Given the description of an element on the screen output the (x, y) to click on. 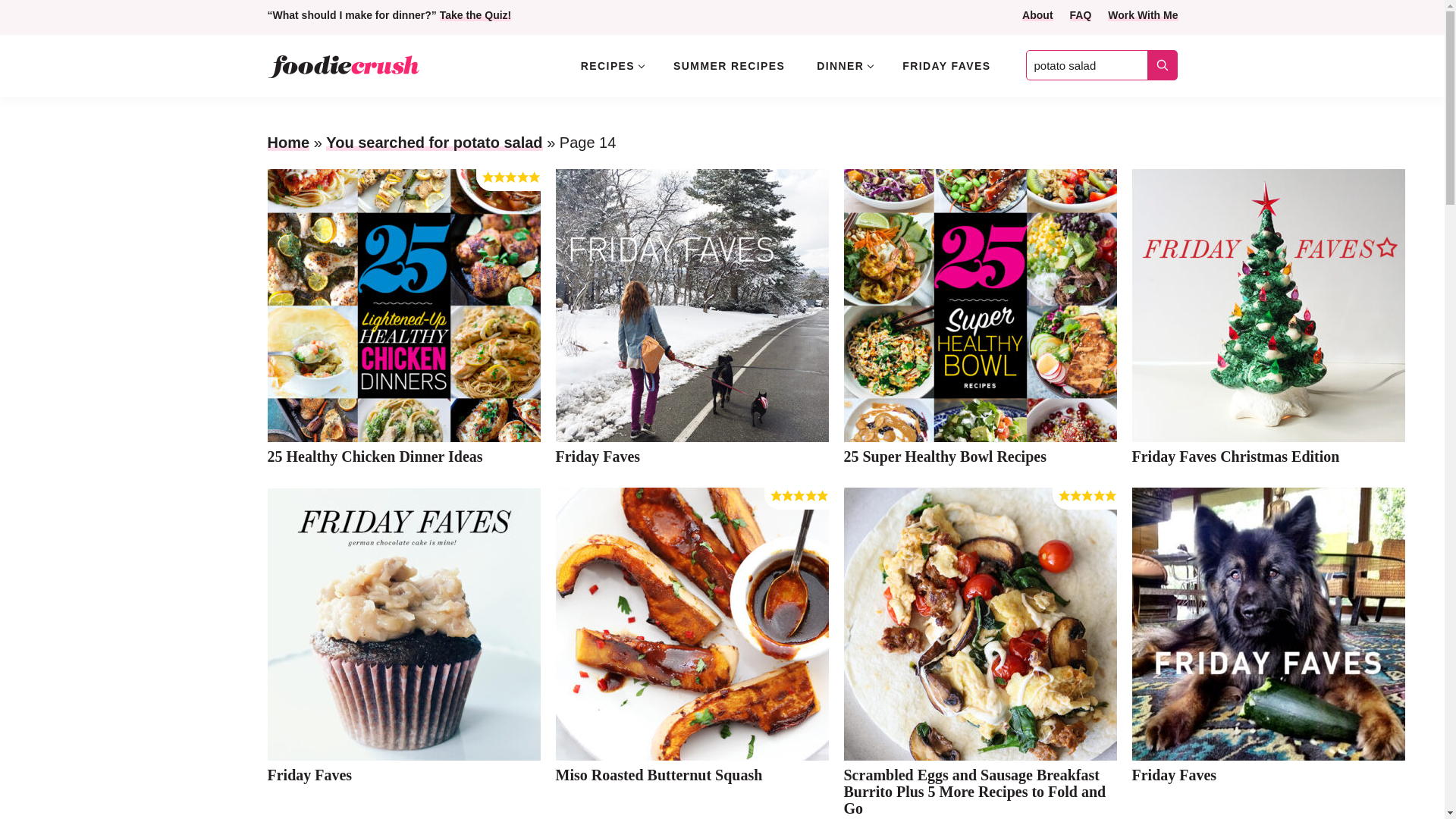
FRIDAY FAVES (946, 65)
SUMMER RECIPES (728, 65)
potato salad (1100, 64)
Submit search (1162, 65)
25 Healthy Chicken Dinner Ideas (373, 456)
Work With Me (1142, 15)
potato salad (1100, 64)
Take the Quiz! (475, 15)
Submit search (1162, 65)
About (1037, 15)
